Given the description of an element on the screen output the (x, y) to click on. 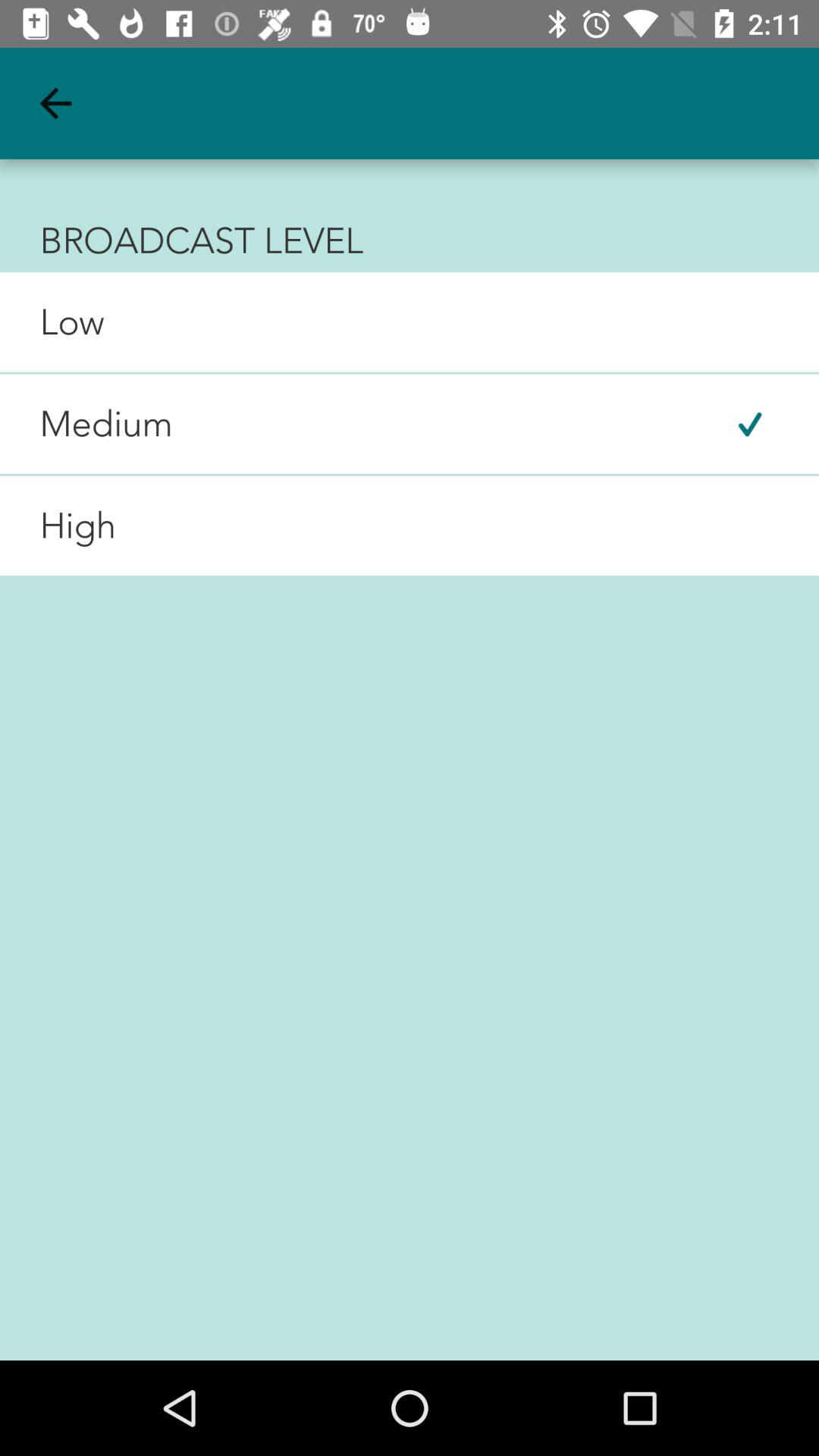
open the icon on the left (58, 525)
